Given the description of an element on the screen output the (x, y) to click on. 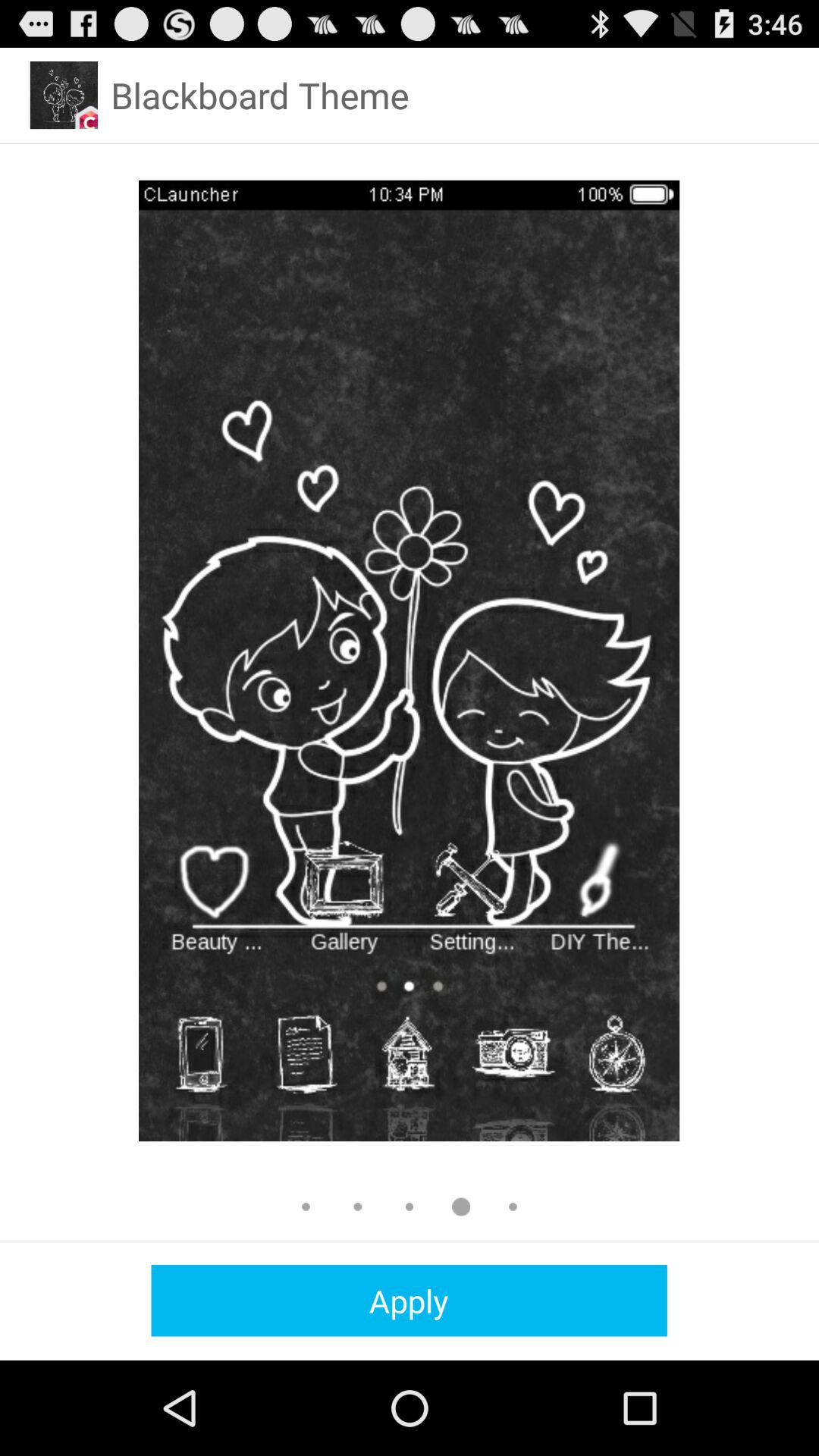
click apply button (409, 1300)
